Given the description of an element on the screen output the (x, y) to click on. 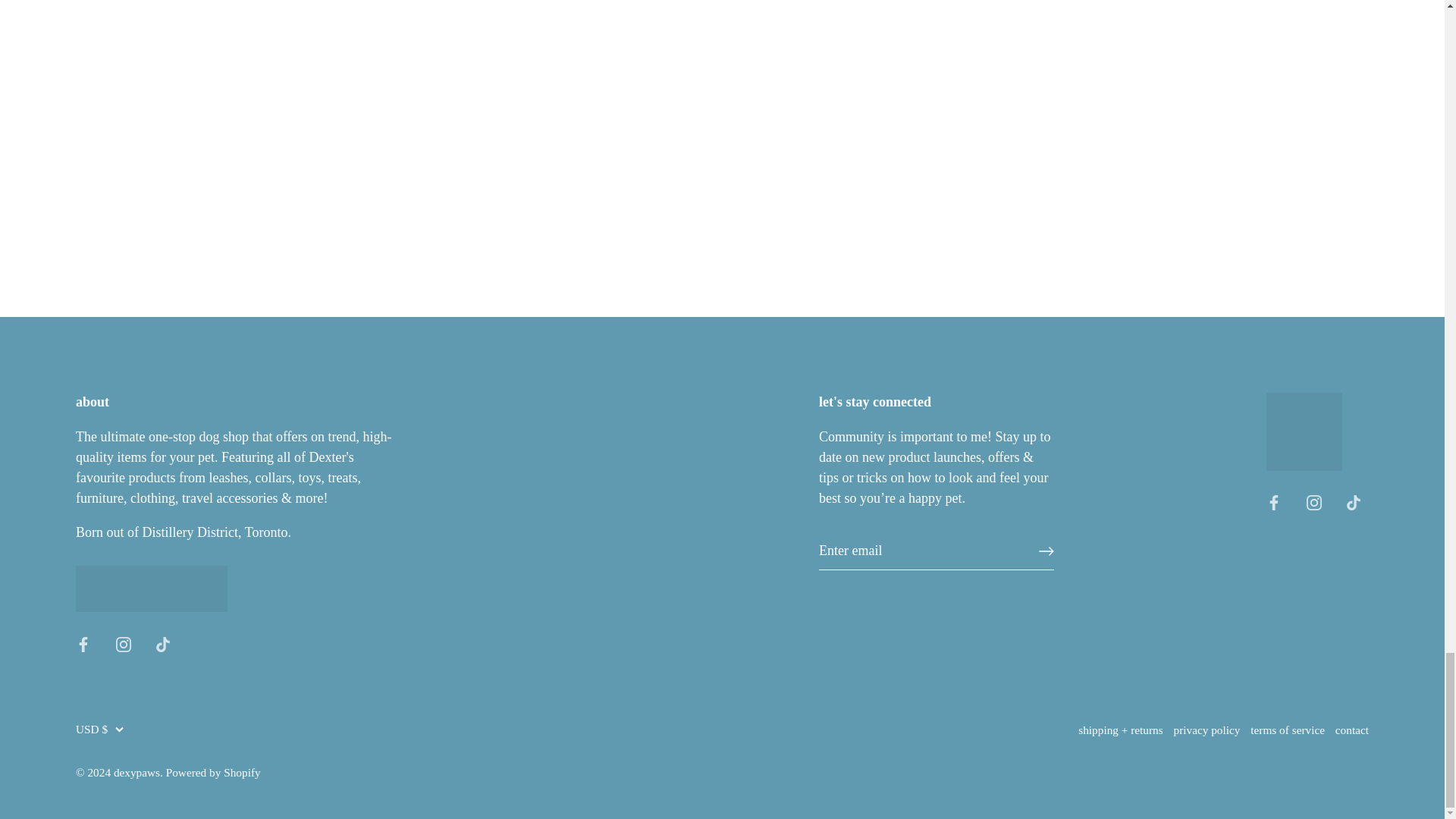
Instagram (1313, 502)
Instagram (123, 644)
RIGHT ARROW LONG (1046, 550)
